Given the description of an element on the screen output the (x, y) to click on. 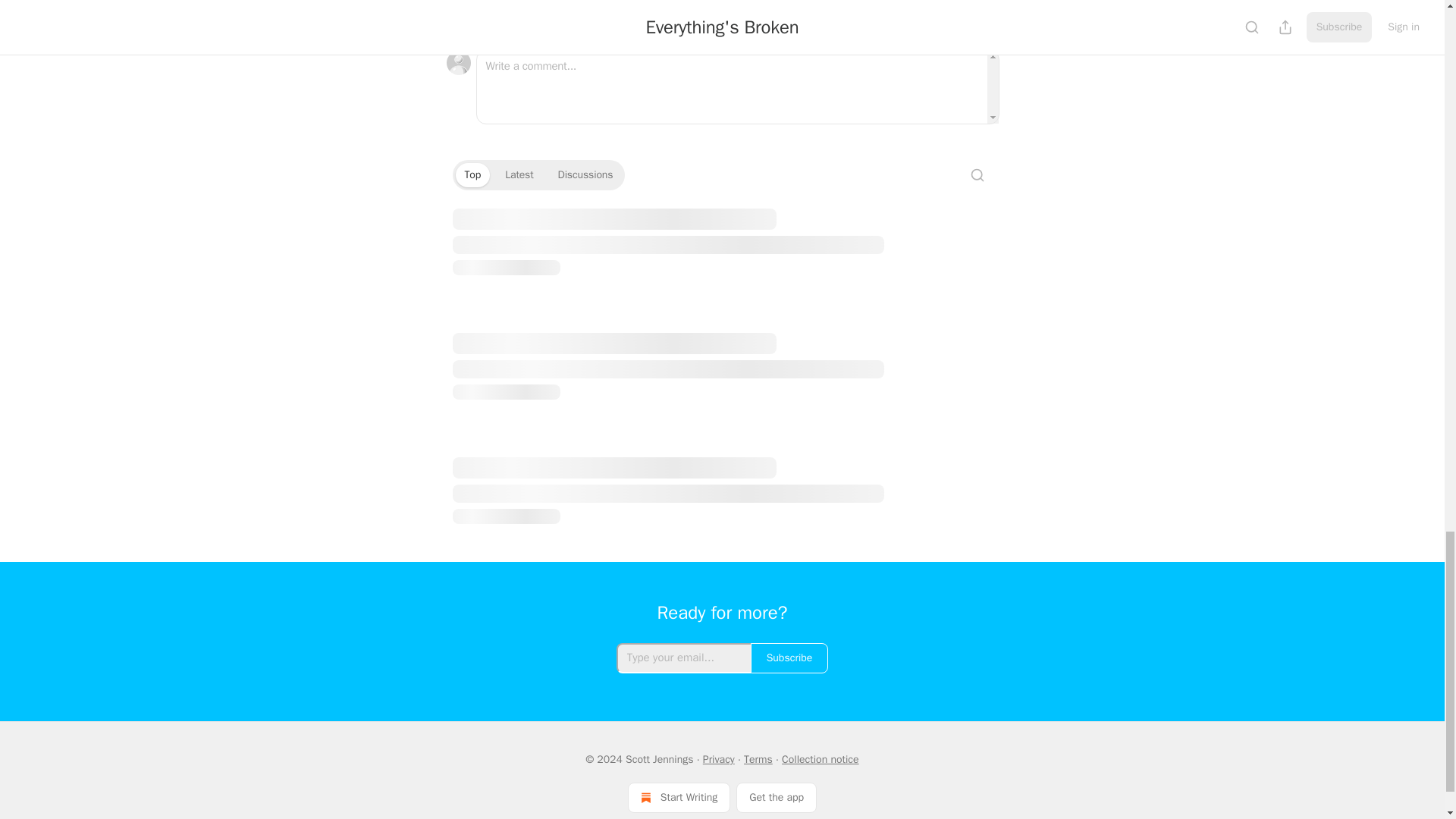
Latest (518, 174)
Discussions (585, 174)
Top (471, 174)
